Given the description of an element on the screen output the (x, y) to click on. 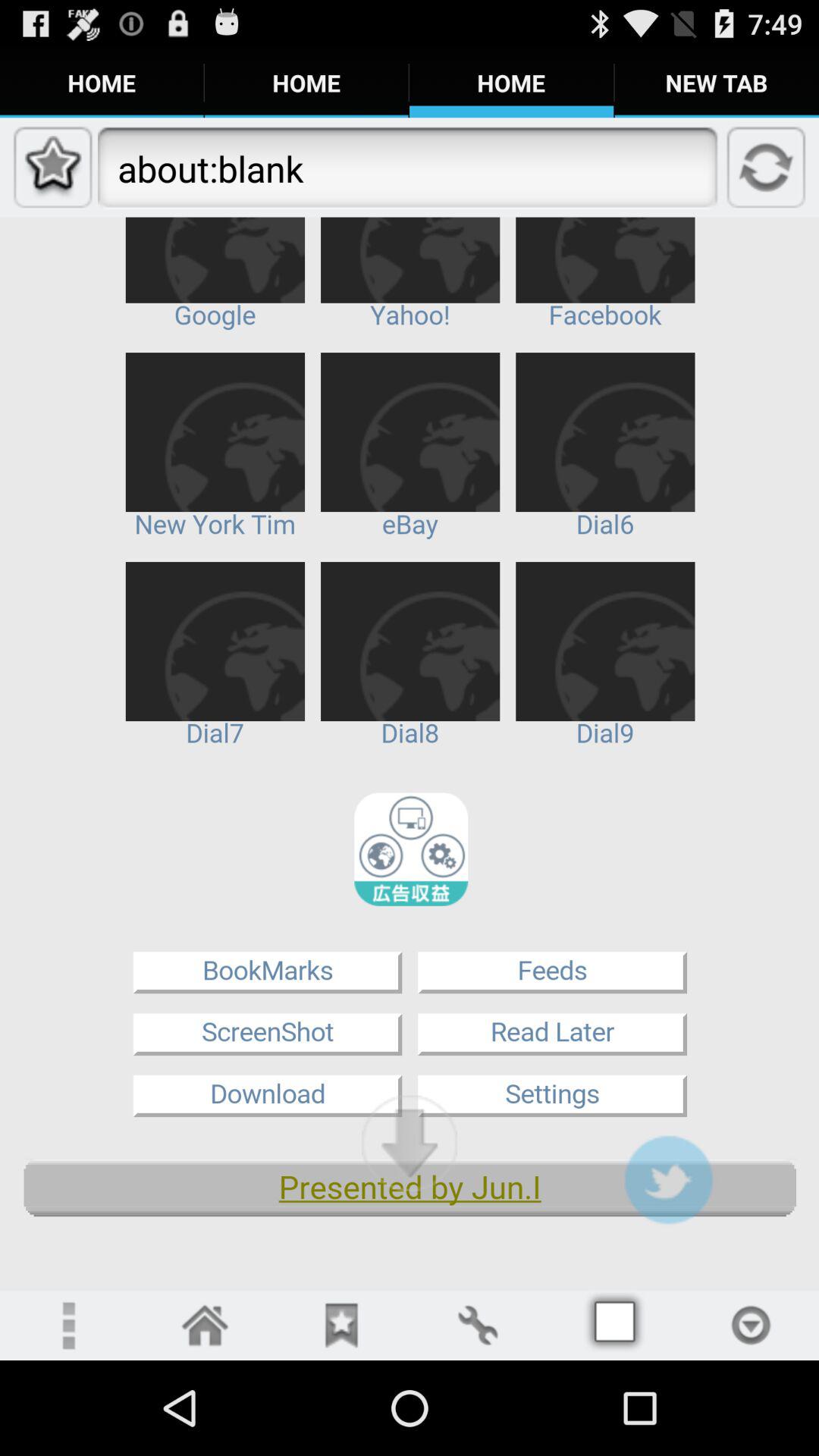
favorites (341, 1325)
